Given the description of an element on the screen output the (x, y) to click on. 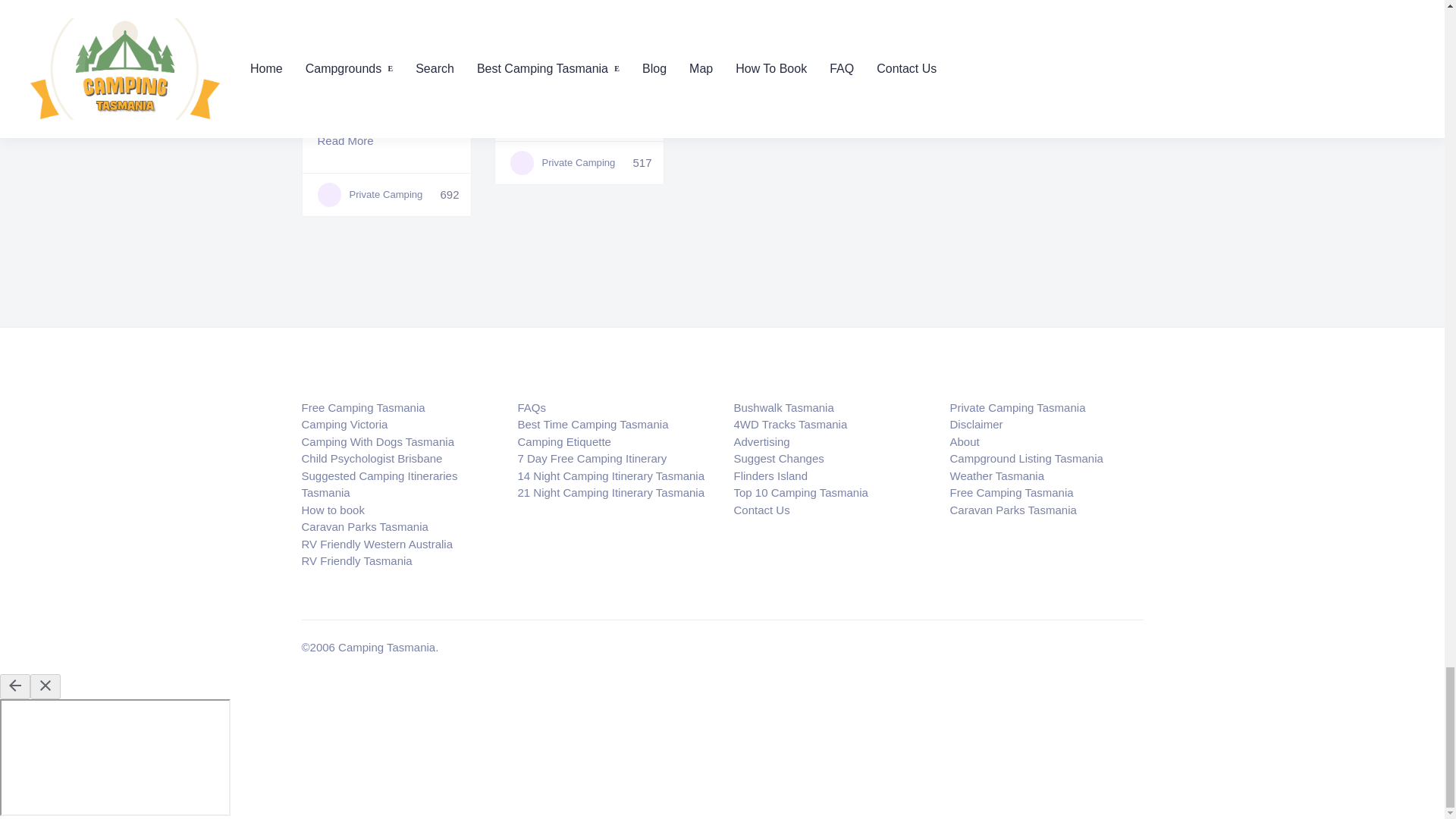
camping victoria (344, 423)
free camping tasmania (363, 407)
child psychologist appointment brisbane (371, 458)
camping with dogs tasmania (377, 440)
